Given the description of an element on the screen output the (x, y) to click on. 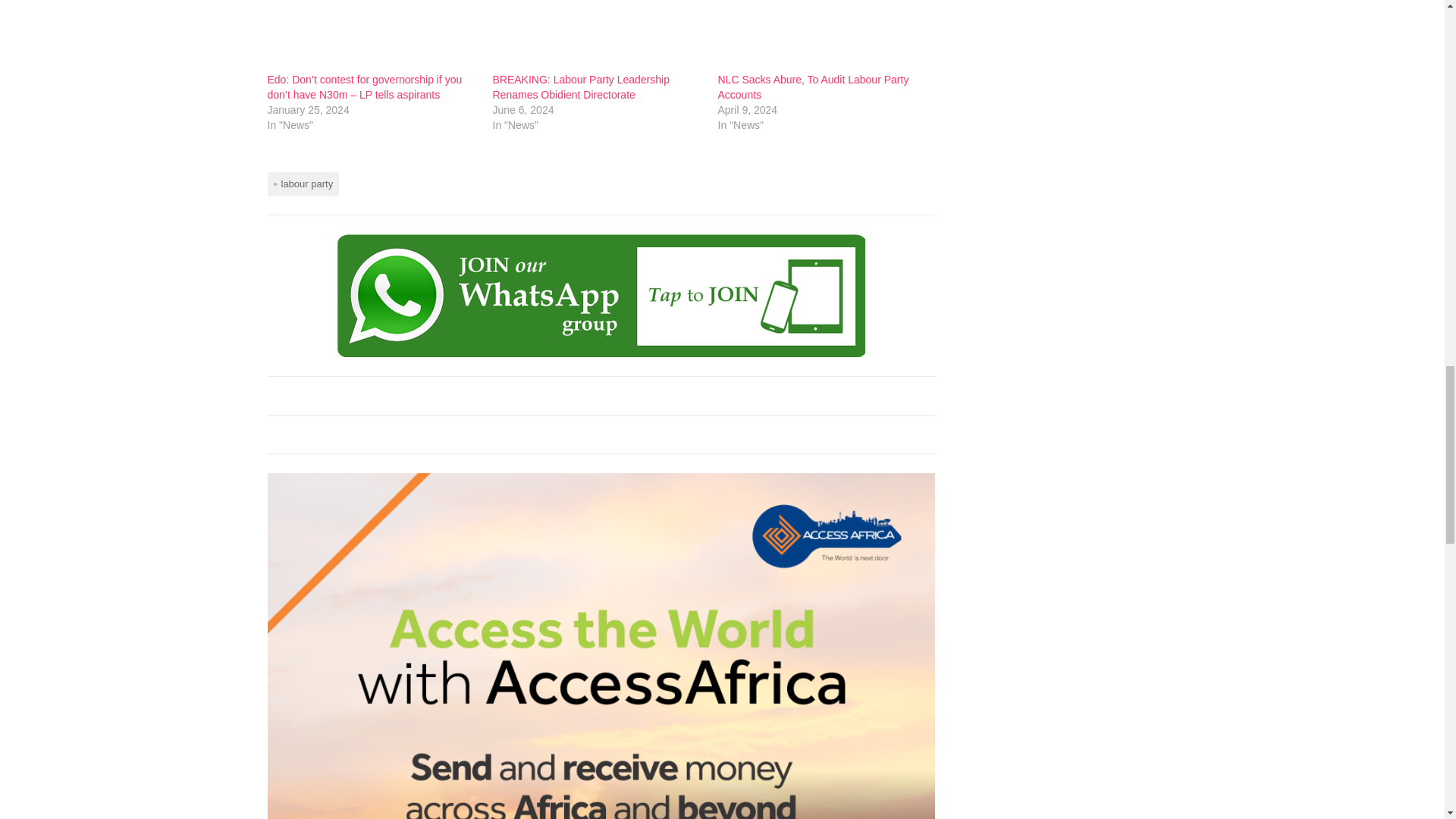
NLC Sacks Abure, To Audit Labour Party Accounts (822, 36)
NLC Sacks Abure, To Audit Labour Party Accounts (812, 86)
